Given the description of an element on the screen output the (x, y) to click on. 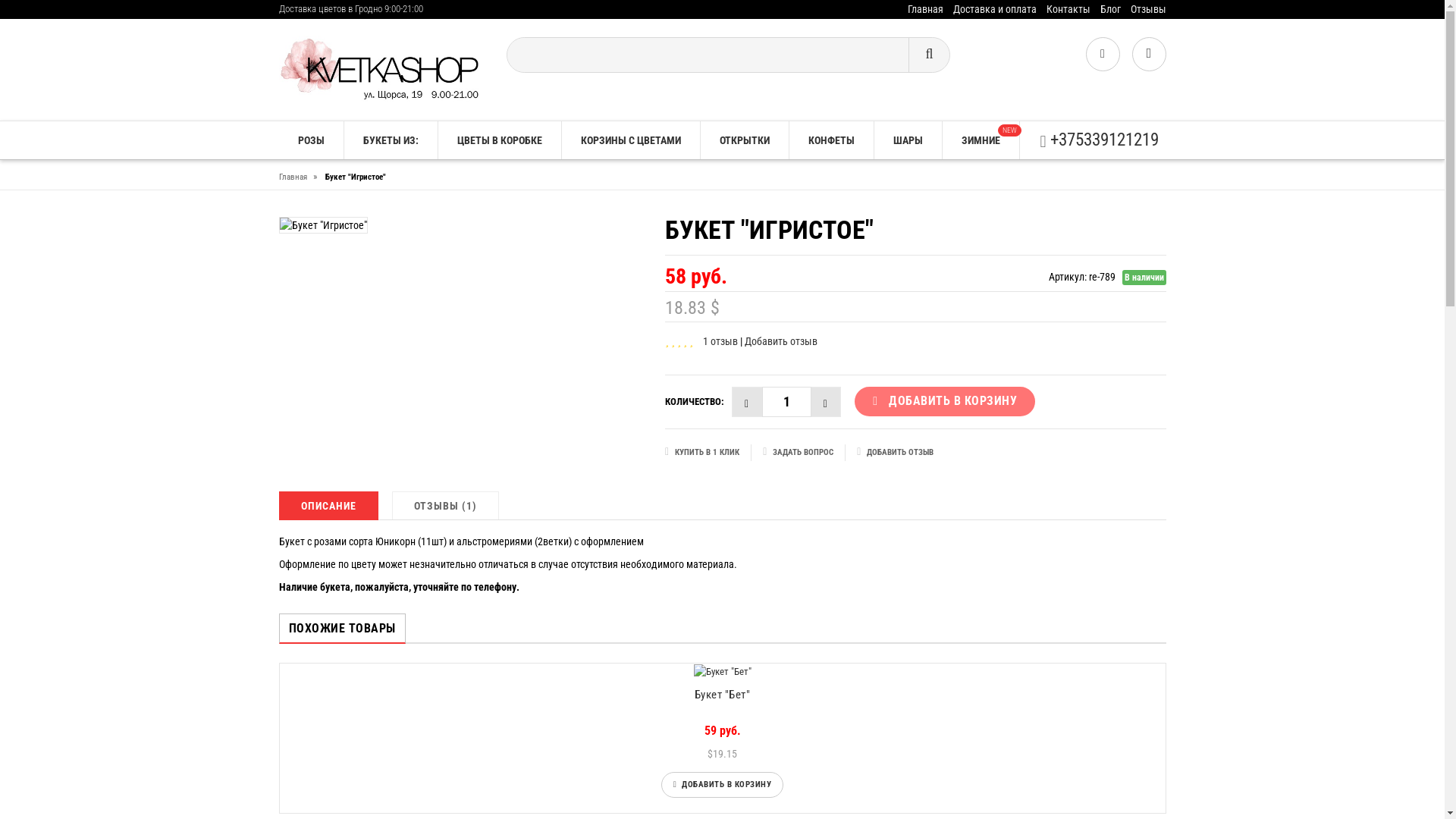
  Element type: text (826, 401)
  Element type: text (746, 401)
+375339121219 Element type: text (1098, 139)
